Given the description of an element on the screen output the (x, y) to click on. 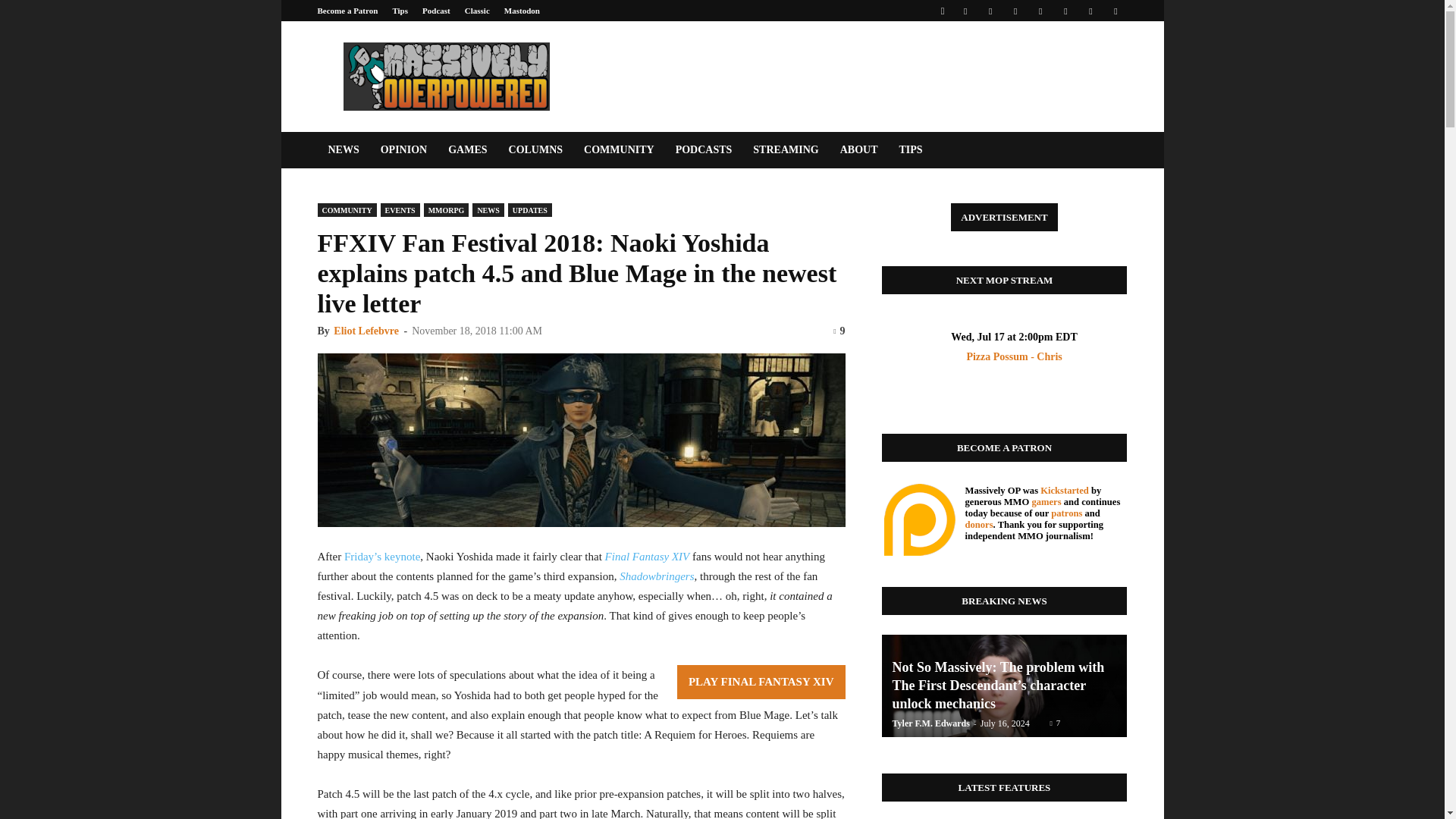
MassivelyOP.com (445, 76)
RSS (1040, 10)
Paypal (1015, 10)
Twitter (1090, 10)
Facebook (964, 10)
Youtube (1114, 10)
Twitch (1065, 10)
Patreon (989, 10)
